Given the description of an element on the screen output the (x, y) to click on. 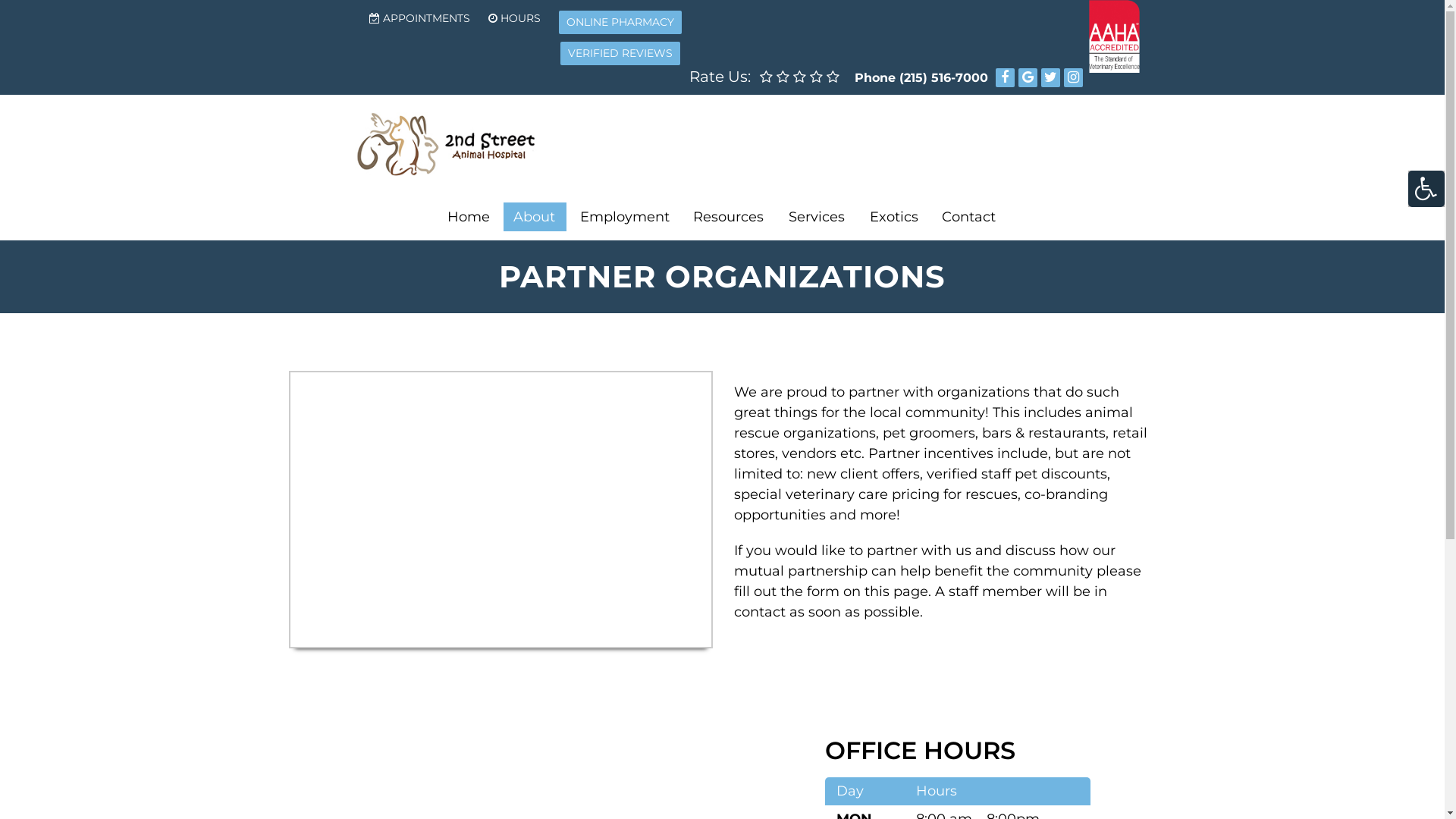
Services Element type: text (817, 216)
ONLINE PHARMACY Element type: text (619, 22)
About Element type: text (534, 216)
HOURS Element type: text (514, 18)
Home Element type: text (468, 216)
VERIFIED REVIEWS Element type: text (620, 53)
(215) 516-7000 Element type: text (943, 77)
Contact Element type: text (969, 216)
Employment Element type: text (624, 216)
Exotics Element type: text (893, 216)
Resources Element type: text (729, 216)
APPOINTMENTS Element type: text (419, 18)
